Given the description of an element on the screen output the (x, y) to click on. 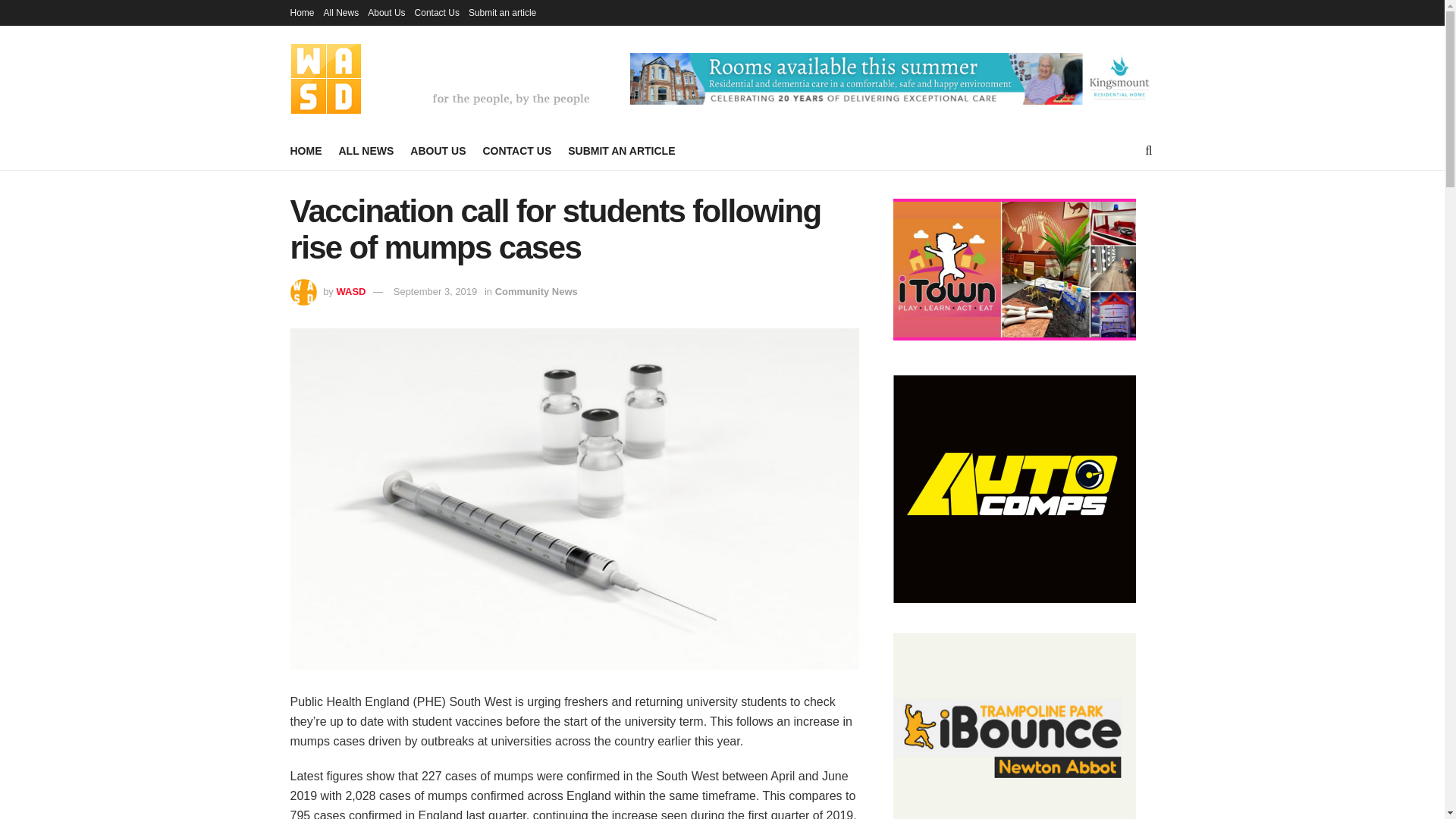
HOME (305, 150)
All News (341, 12)
Submit an article (501, 12)
September 3, 2019 (435, 291)
Contact Us (437, 12)
CONTACT US (516, 150)
WASD (350, 291)
Home (301, 12)
Community News (536, 291)
About Us (386, 12)
